Given the description of an element on the screen output the (x, y) to click on. 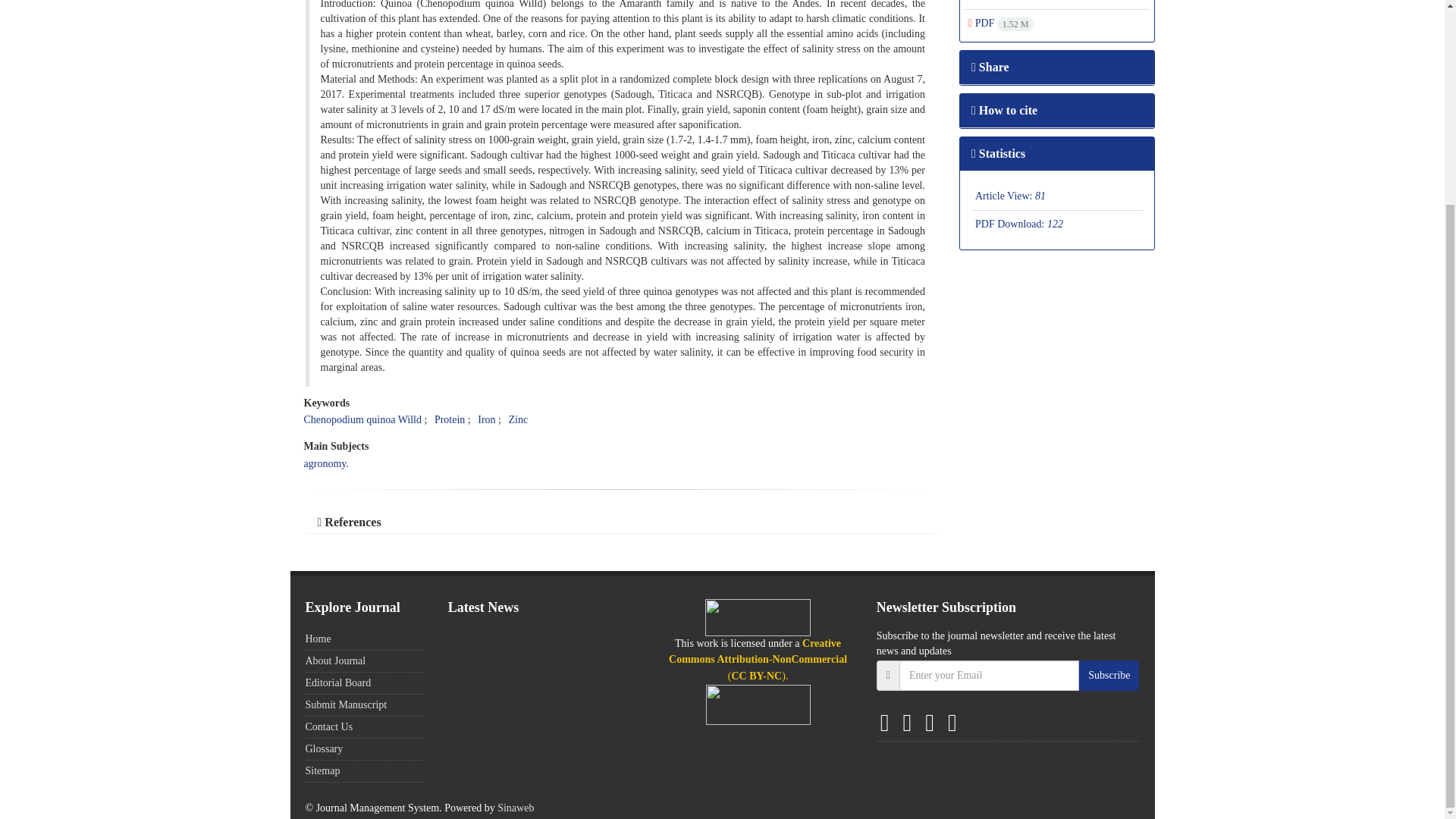
Protein (448, 419)
Zinc (517, 419)
Chenopodium quinoa Willd (362, 419)
Iron (486, 419)
